Given the description of an element on the screen output the (x, y) to click on. 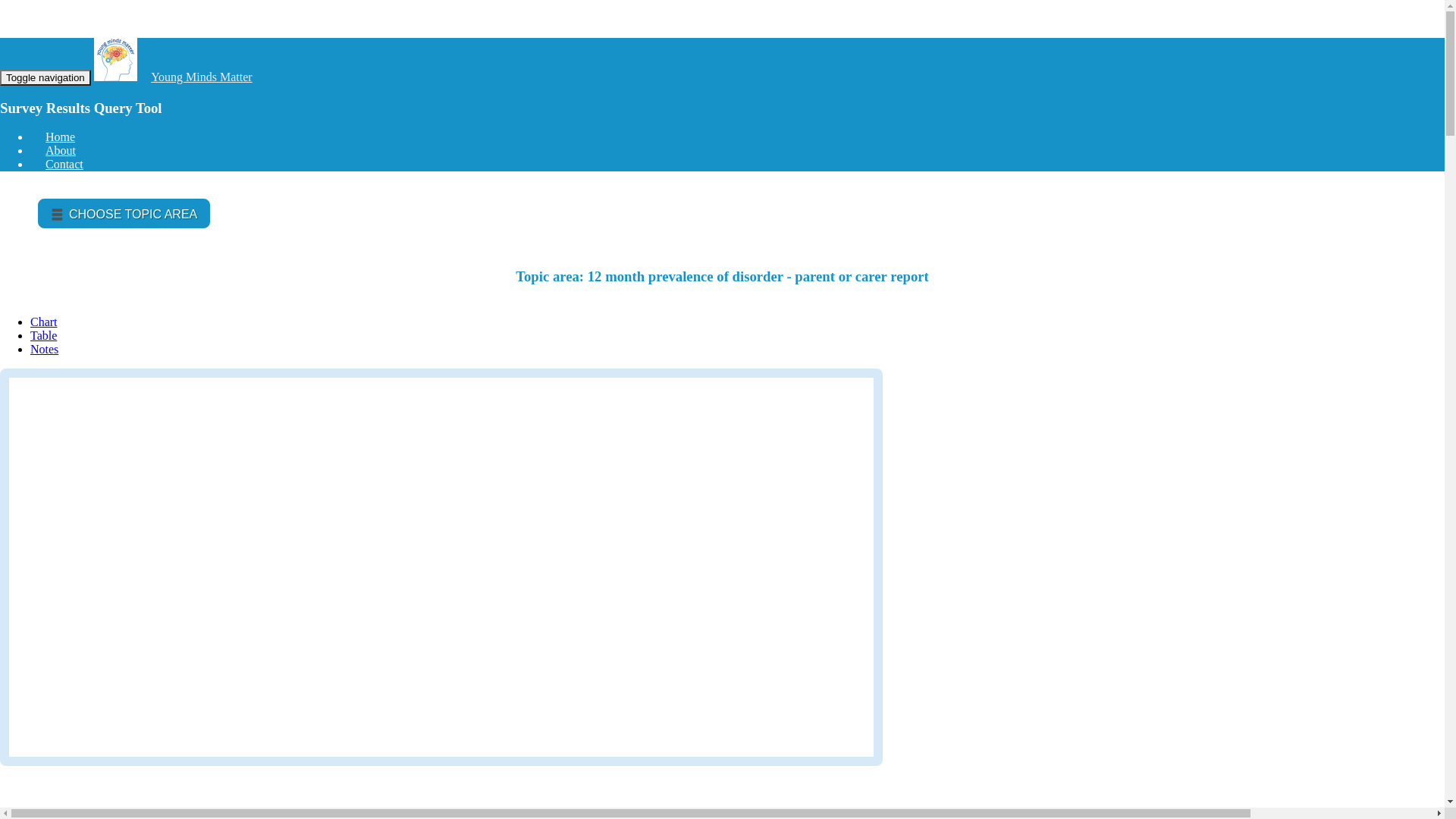
Chart Element type: text (43, 321)
Home Element type: text (60, 136)
Table Element type: text (43, 335)
CHOOSE TOPIC AREA Element type: text (123, 213)
Contact Element type: text (64, 163)
Toggle navigation Element type: text (45, 77)
Young Minds Matter Element type: text (201, 76)
About Element type: text (60, 150)
Notes Element type: text (44, 348)
